Given the description of an element on the screen output the (x, y) to click on. 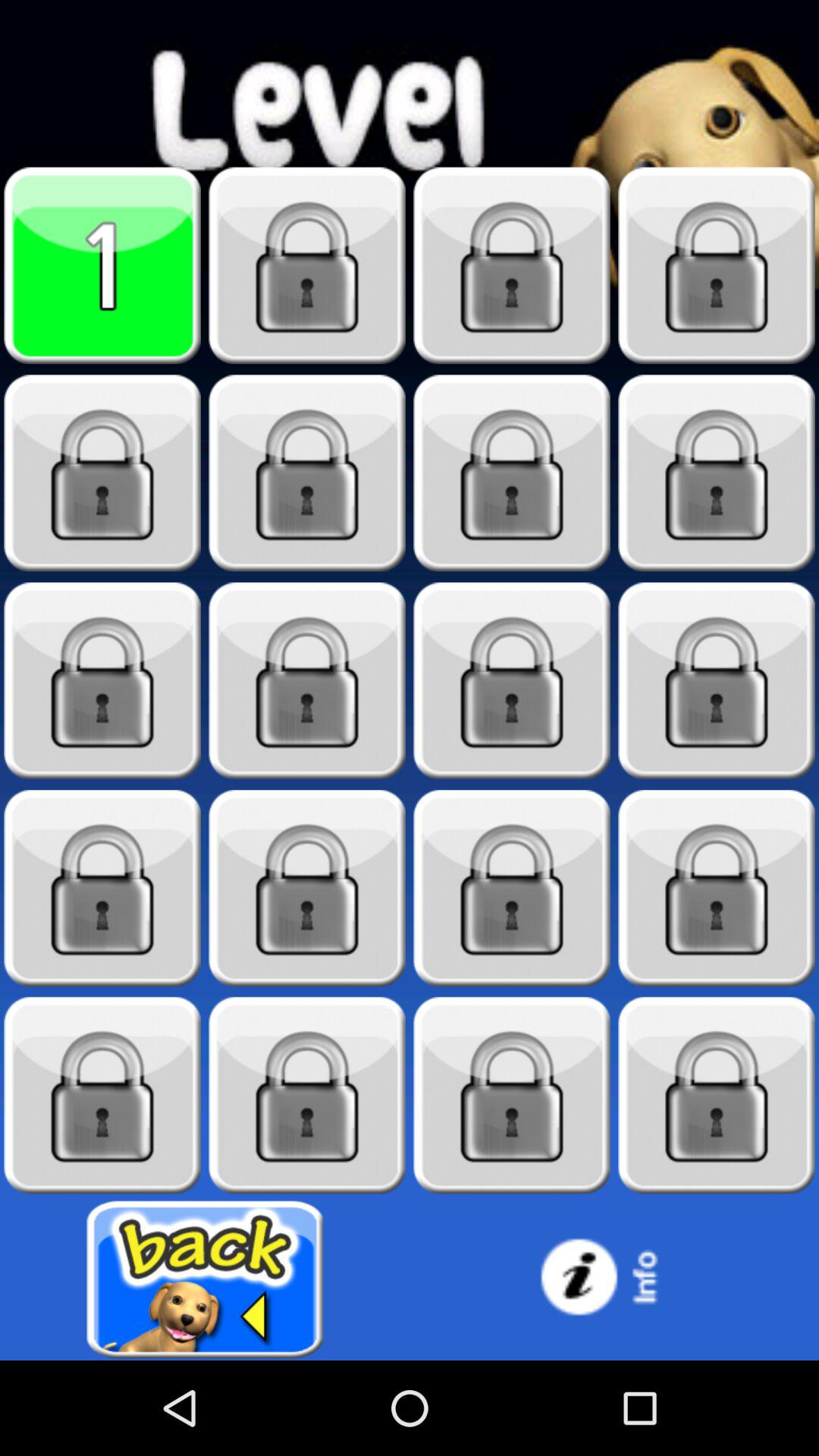
unlock level 5 (102, 473)
